Given the description of an element on the screen output the (x, y) to click on. 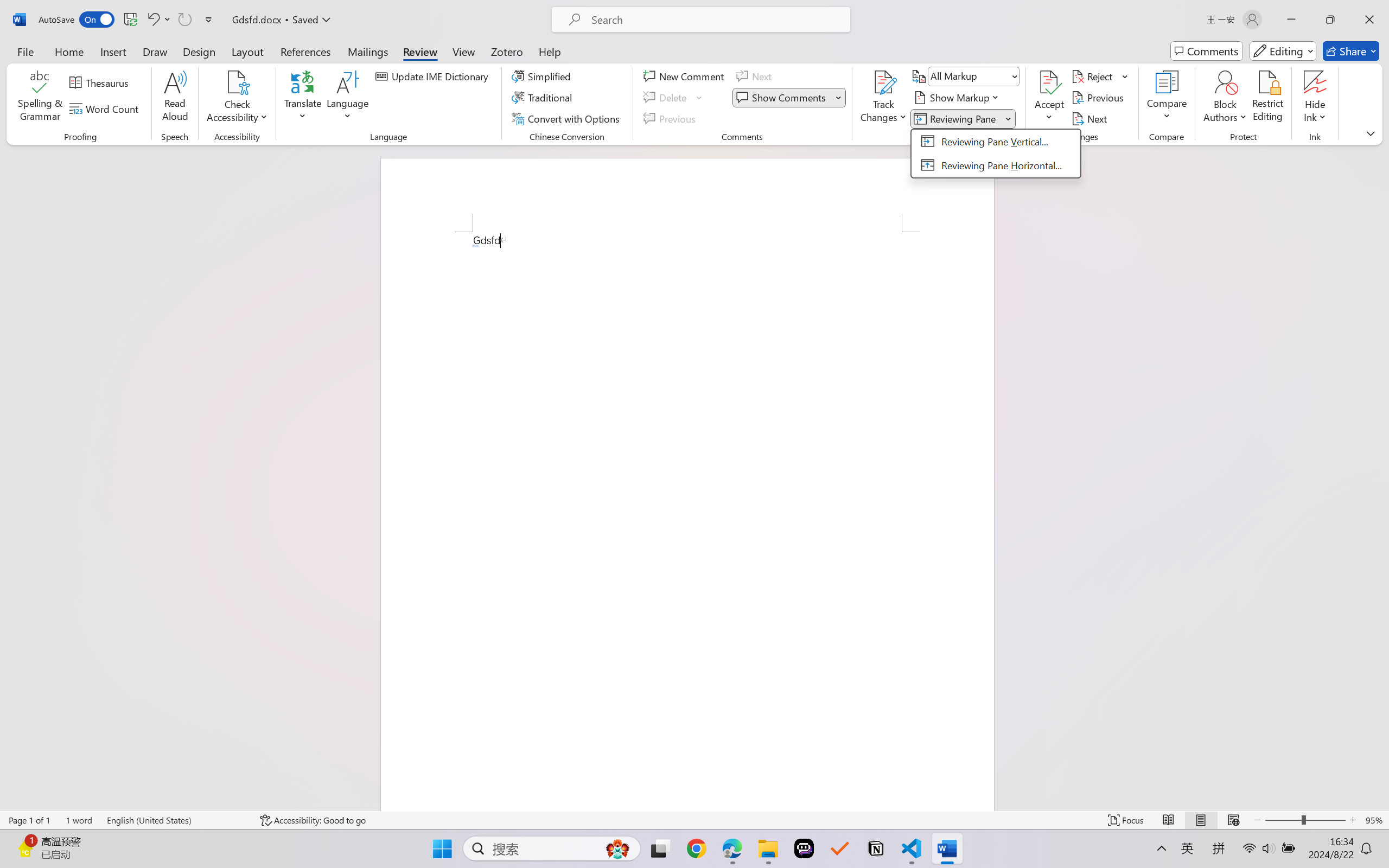
New Comment (685, 75)
Check Accessibility (237, 97)
Next (1090, 118)
Convert with Options... (567, 118)
Update IME Dictionary... (433, 75)
Show Markup (957, 97)
Block Authors (1224, 81)
Undo AutoCorrect (158, 19)
Google Chrome (696, 848)
